Given the description of an element on the screen output the (x, y) to click on. 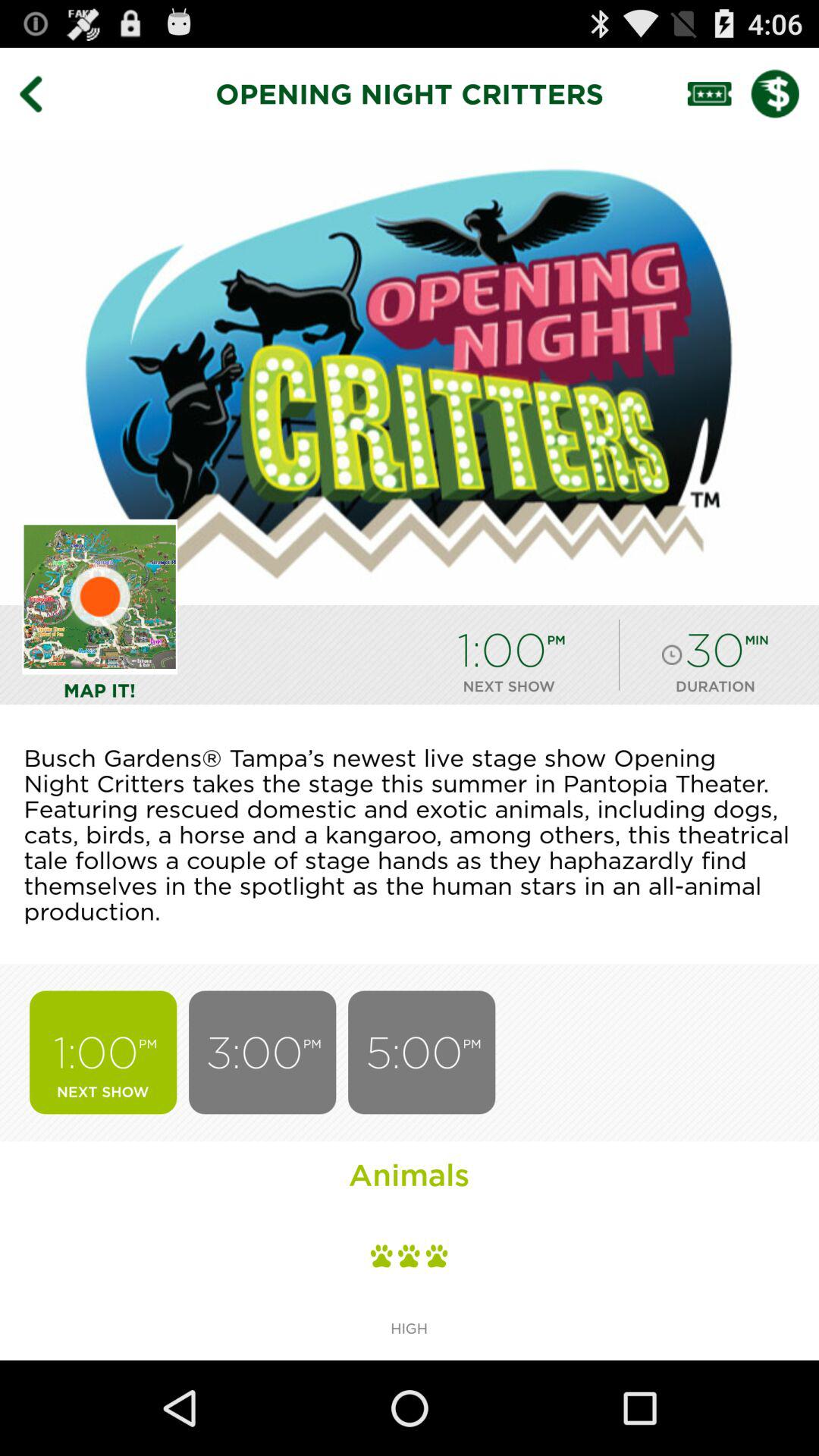
tap the icon at the top left corner (41, 93)
